Given the description of an element on the screen output the (x, y) to click on. 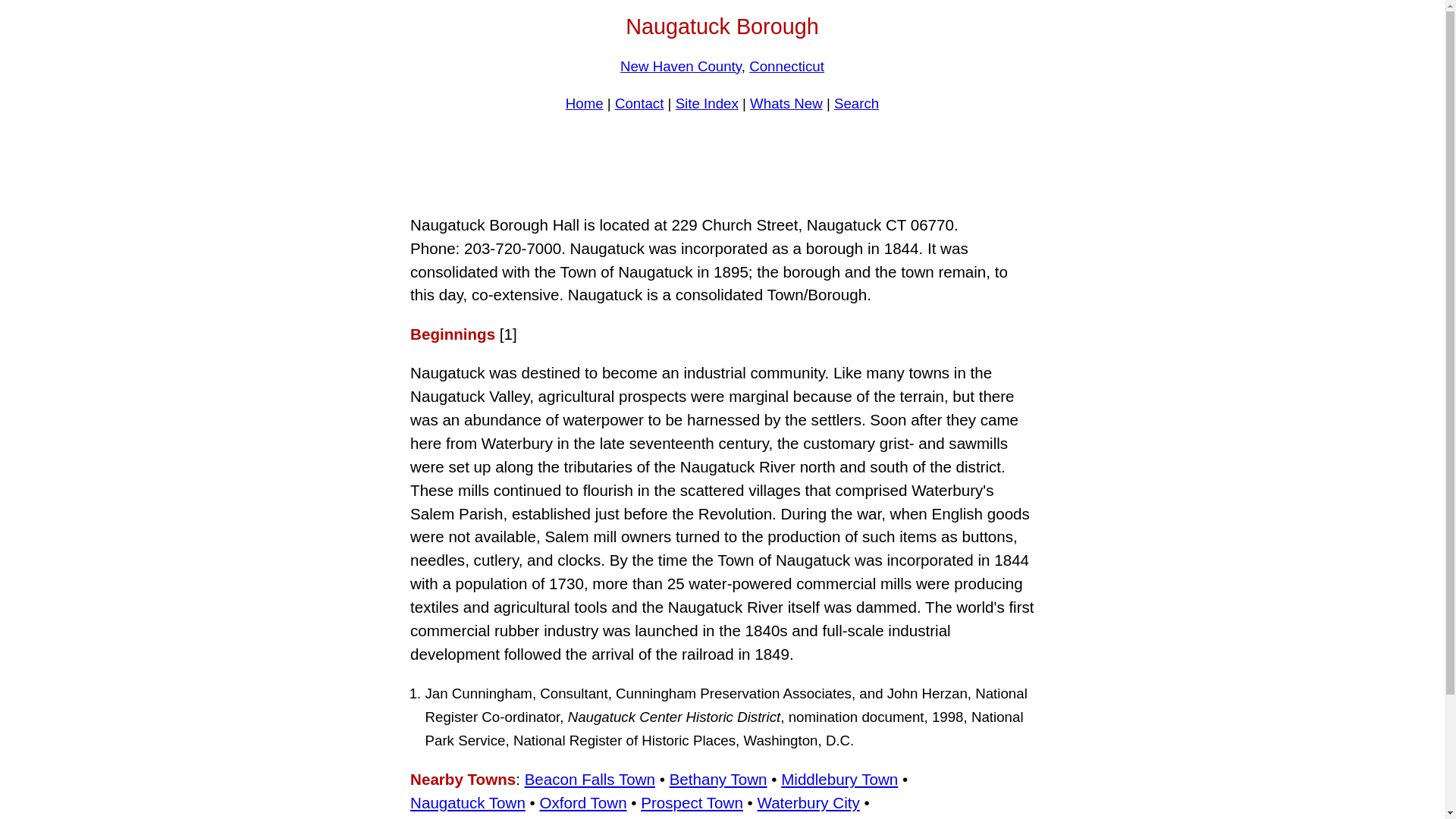
Beacon Falls Town (589, 778)
Contact (638, 103)
Naugatuck Town (467, 802)
Home (585, 103)
Oxford Town (582, 802)
